Given the description of an element on the screen output the (x, y) to click on. 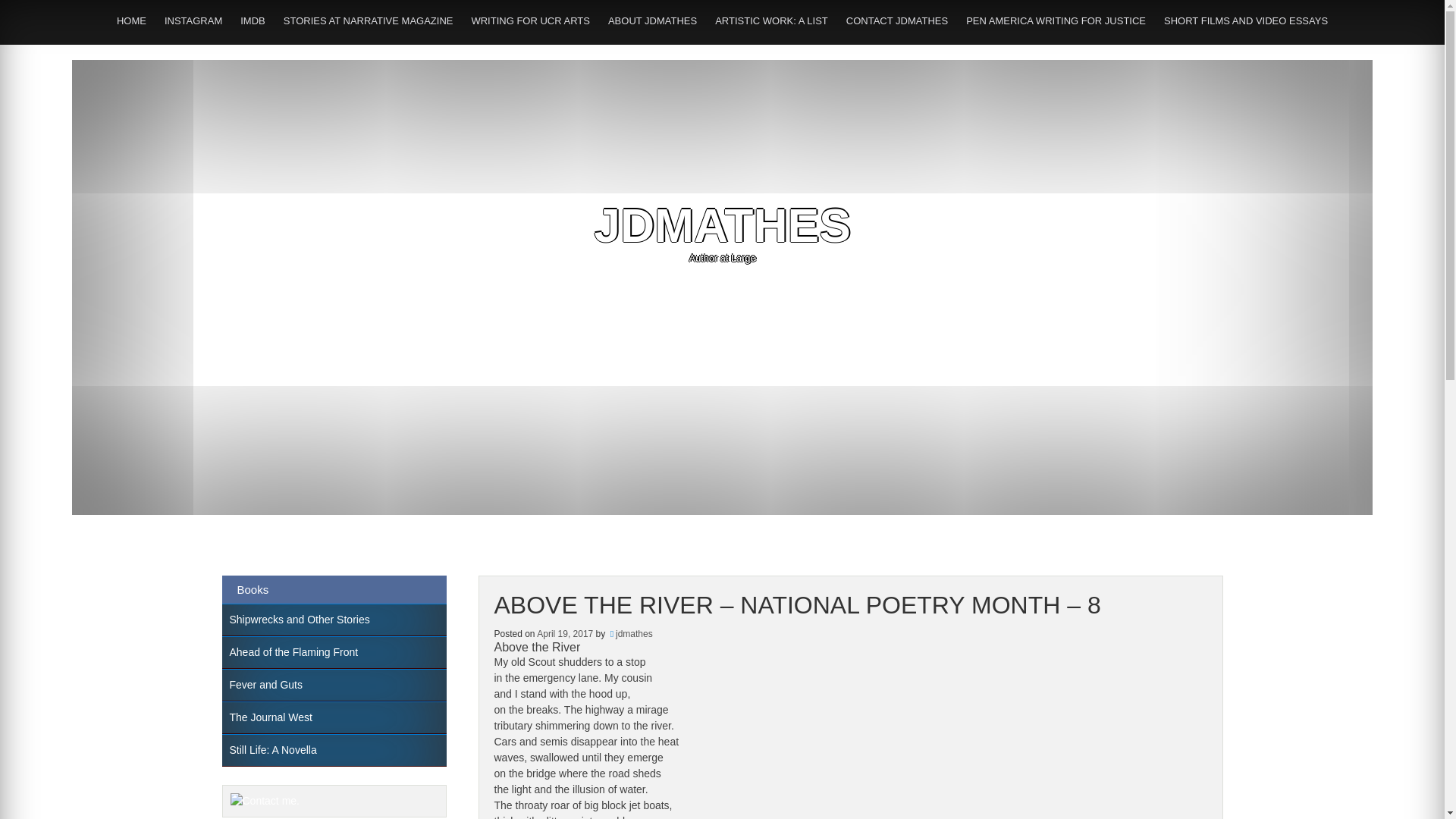
Still Life: A Novella (333, 749)
HOME (131, 20)
ARTISTIC WORK: A LIST (771, 20)
JDMATHES (722, 225)
PEN AMERICA WRITING FOR JUSTICE (1055, 20)
IMDB (253, 20)
Fever and Guts (333, 685)
April 19, 2017 (564, 633)
CONTACT JDMATHES (896, 20)
Shipwrecks and Other Stories (333, 619)
